Given the description of an element on the screen output the (x, y) to click on. 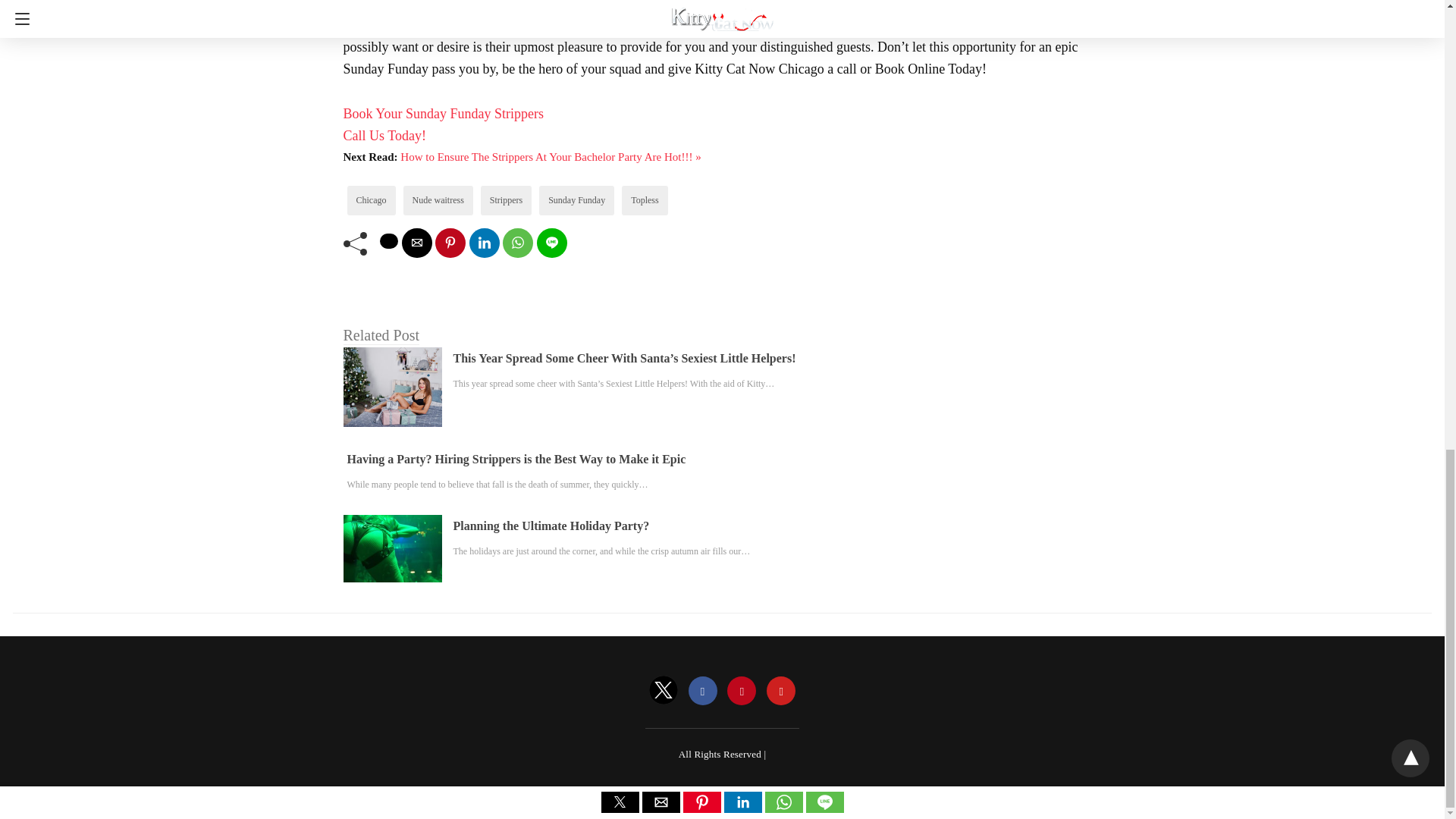
pinterest profile (740, 691)
youtube profile (780, 691)
line share (552, 242)
twitter profile (663, 691)
Strippers (505, 199)
Planning the Ultimate Holiday Party? (550, 525)
linkedin share (483, 242)
Call Us Today! (383, 135)
whatsapp share (517, 242)
Chicago (371, 199)
Planning the Ultimate Holiday Party? (550, 525)
Sunday Funday (576, 199)
facebook profile (702, 691)
pinterest share (450, 242)
